Given the description of an element on the screen output the (x, y) to click on. 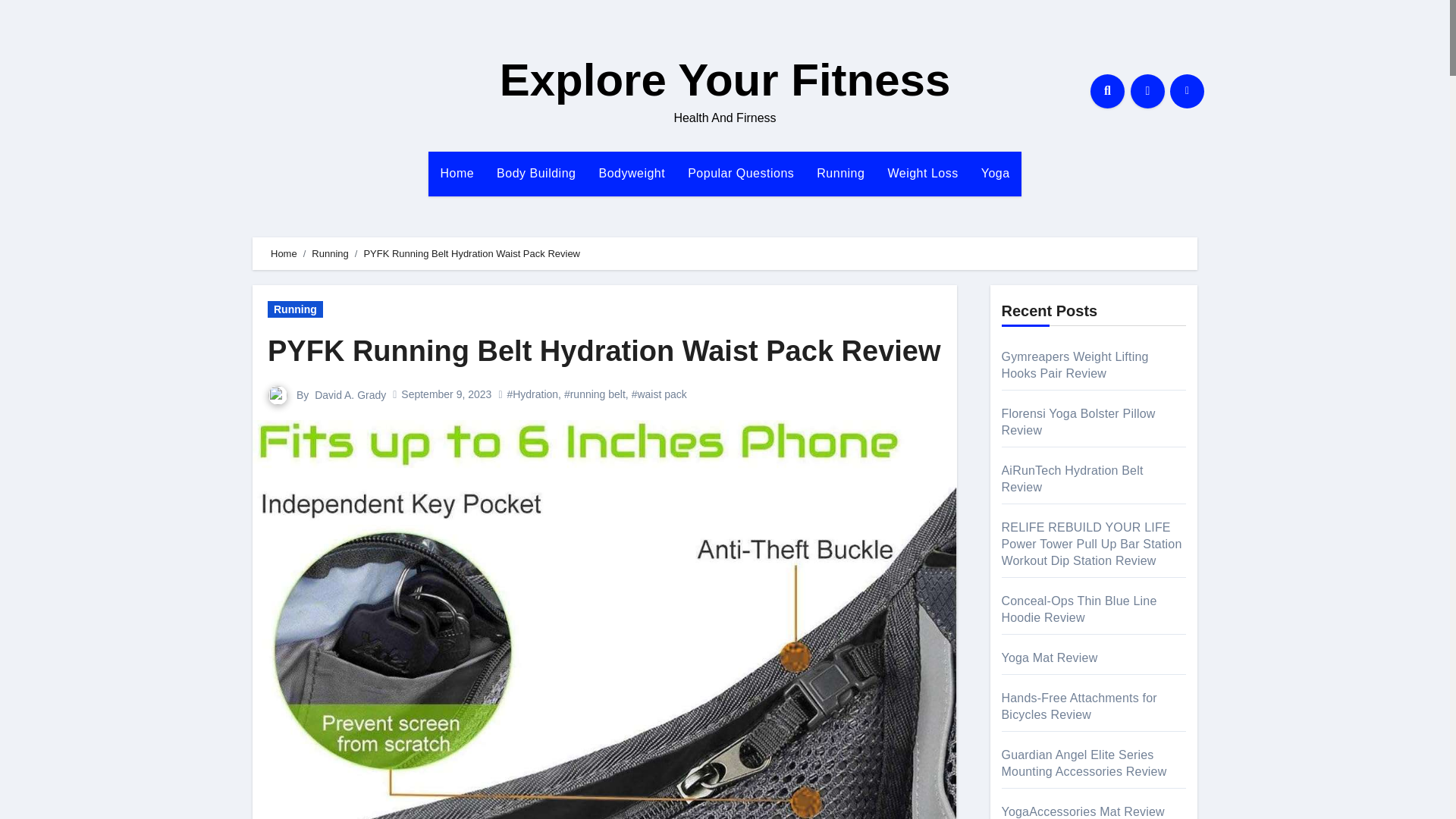
Running (840, 173)
Home (283, 253)
Body Building (535, 173)
Popular Questions (741, 173)
Explore Your Fitness (724, 79)
Yoga (995, 173)
Weight Loss (922, 173)
Running (840, 173)
Running (295, 309)
Body Building (535, 173)
